Given the description of an element on the screen output the (x, y) to click on. 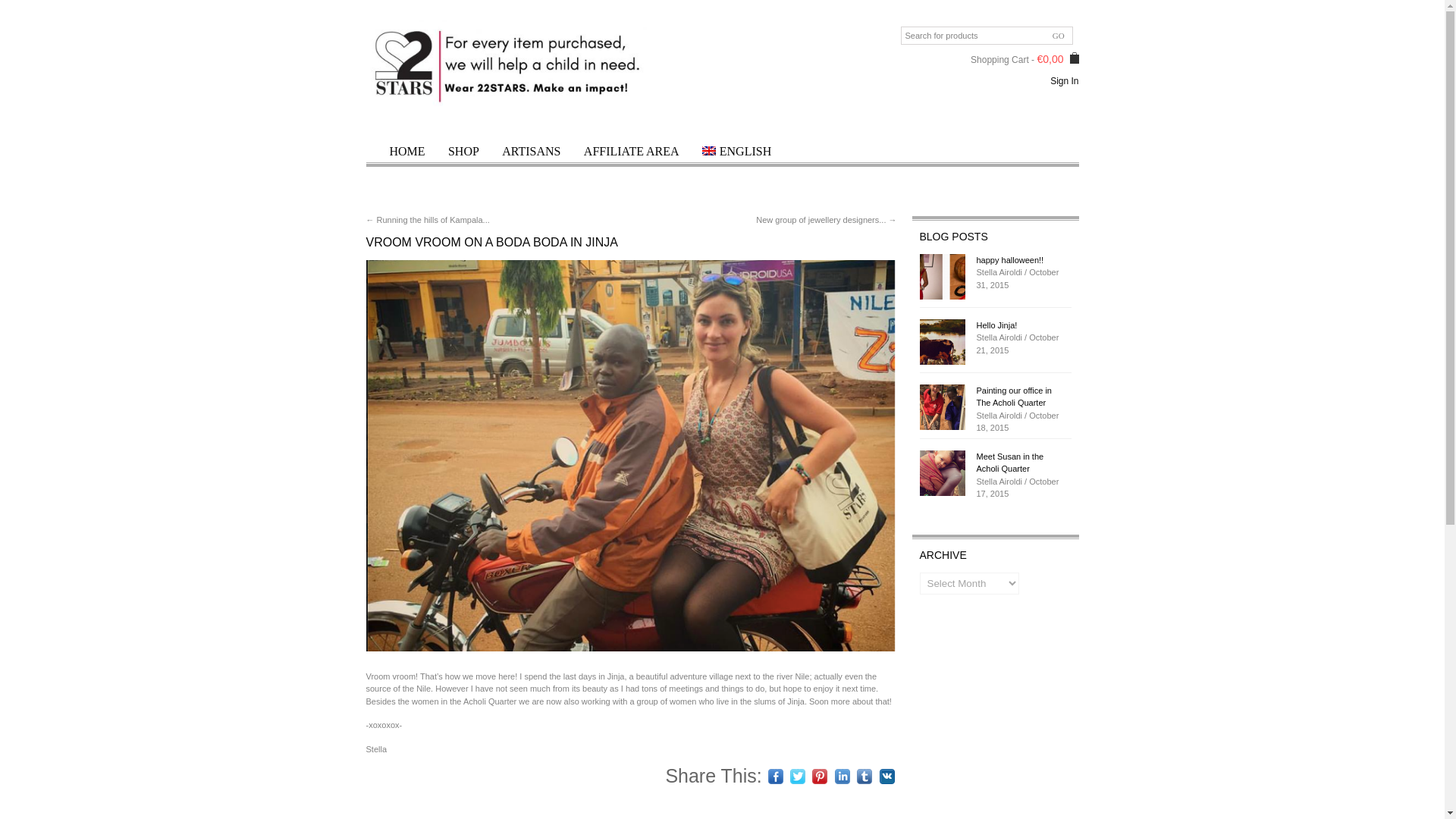
Sign In (1063, 81)
ENGLISH (736, 150)
Search for products (987, 35)
Hello Jinja! (940, 341)
English (736, 150)
HOME (406, 150)
happy halloween!! (940, 276)
ARTISANS (531, 150)
Hello Jinja! (1021, 325)
AFFILIATE AREA (631, 150)
happy halloween!! (1021, 259)
English (708, 150)
SHOP (463, 150)
